Given the description of an element on the screen output the (x, y) to click on. 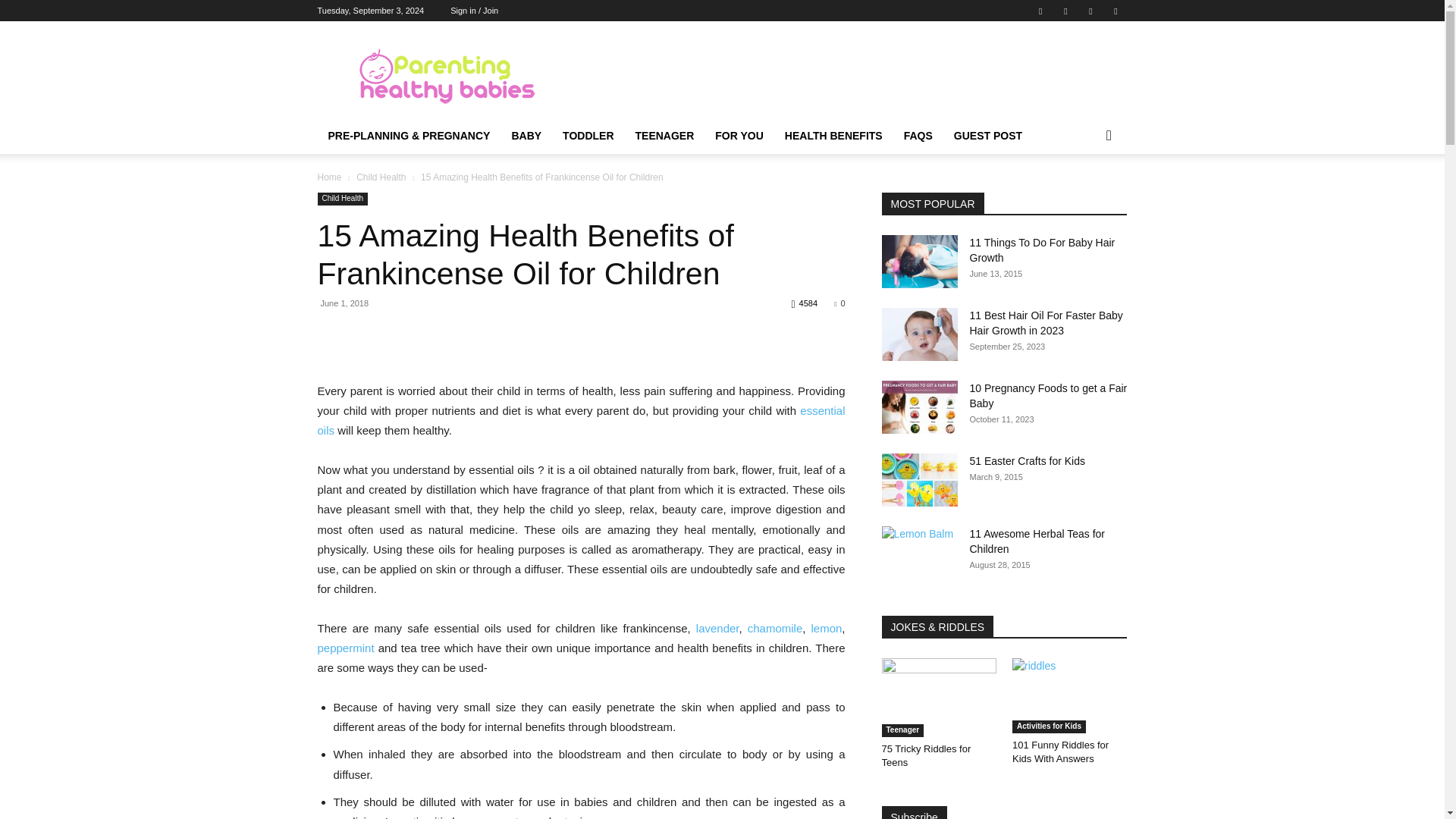
View all posts in Child Health (381, 176)
HEALTH BENEFITS (833, 135)
FAQS (918, 135)
BABY (525, 135)
GUEST POST (987, 135)
Facebook (1040, 10)
Twitter (1090, 10)
Youtube (1114, 10)
Pinterest (1065, 10)
TEENAGER (664, 135)
